Given the description of an element on the screen output the (x, y) to click on. 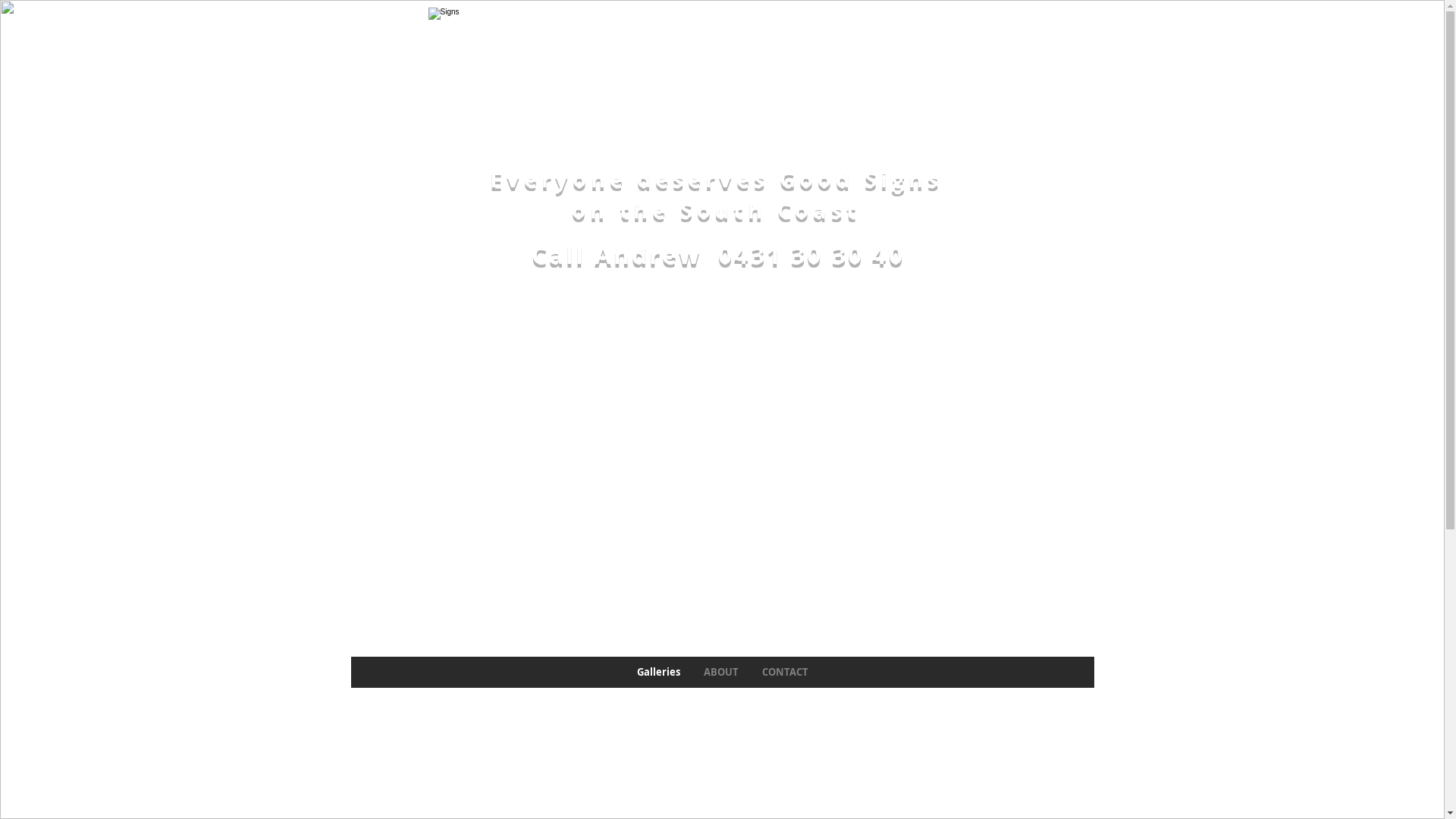
Nowra, Kiama, Ulladulla, Batemans Bay & the South Coast Element type: hover (721, 78)
ABOUT Element type: text (720, 671)
Call Andrew  0431 30 30 40 Element type: text (716, 254)
CONTACT Element type: text (784, 671)
Galleries Element type: text (657, 671)
